Given the description of an element on the screen output the (x, y) to click on. 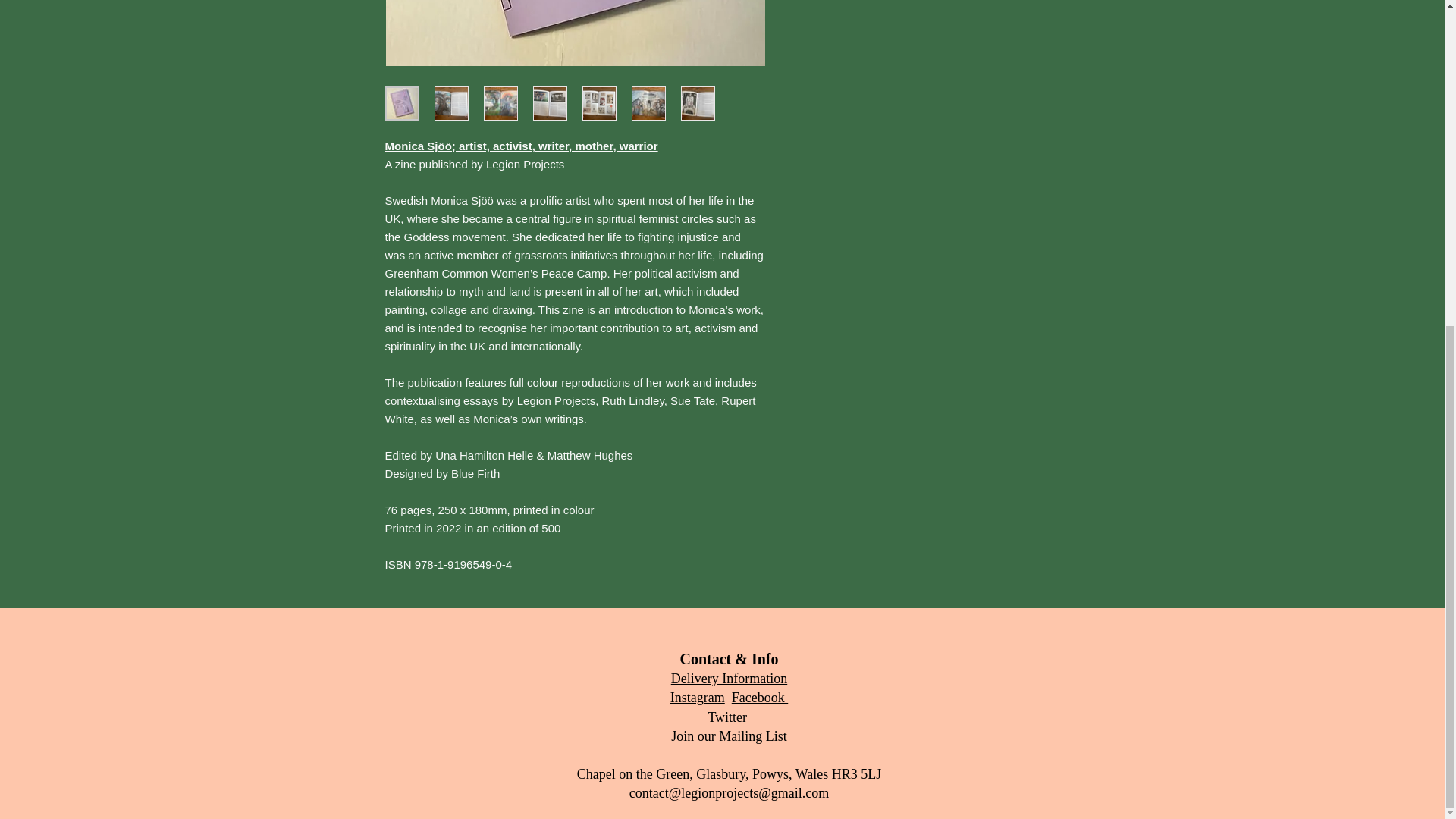
Instagram (697, 697)
Facebook  (759, 697)
Join our Mailing List (729, 735)
Delivery Information (729, 678)
Twitter  (728, 717)
